Given the description of an element on the screen output the (x, y) to click on. 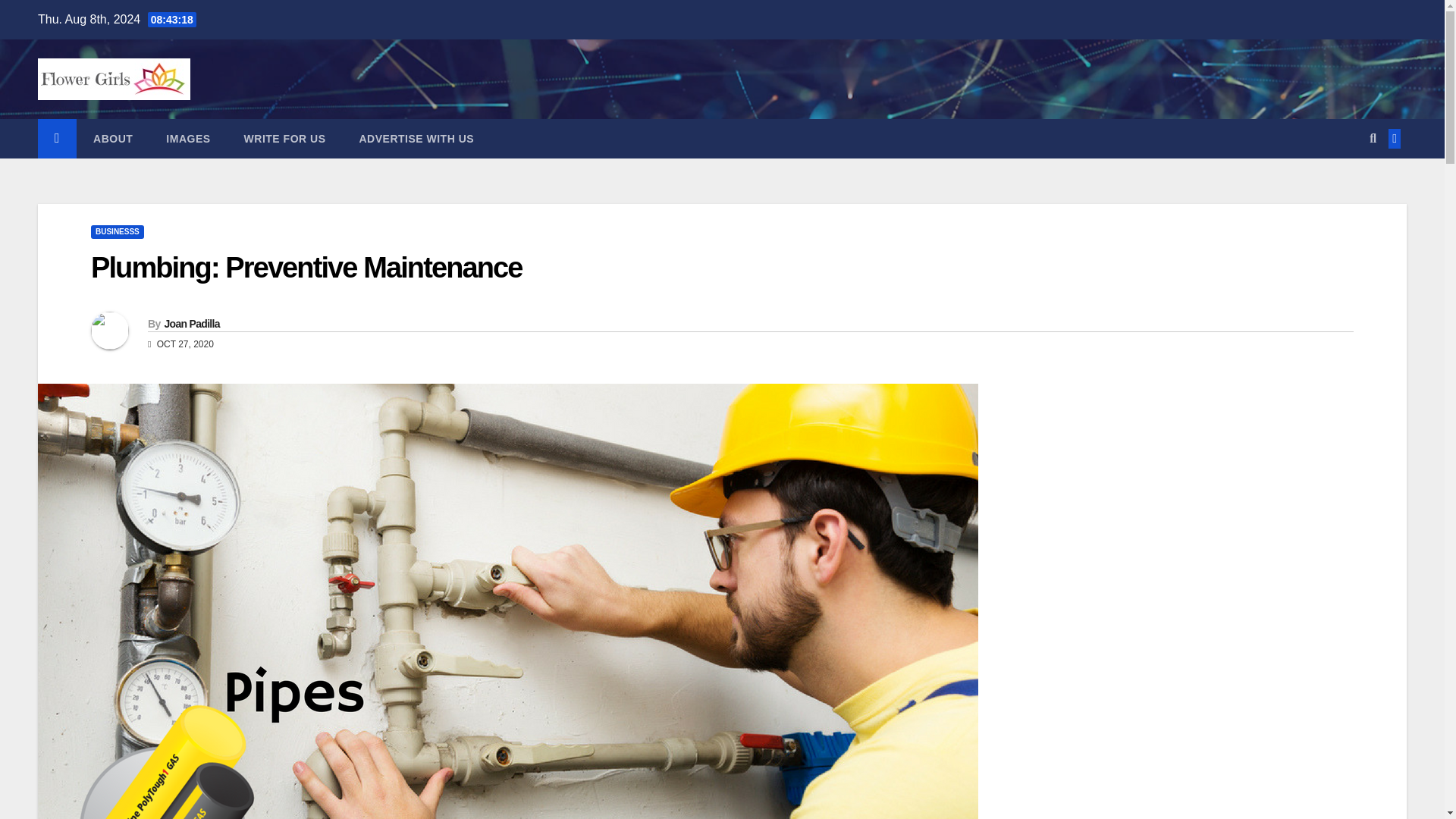
Plumbing: Preventive Maintenance (305, 267)
Permalink to: Plumbing: Preventive Maintenance (305, 267)
IMAGES (188, 138)
About (113, 138)
Write For Us (284, 138)
WRITE FOR US (284, 138)
ABOUT (113, 138)
Advertise with Us (416, 138)
Images (188, 138)
Joan Padilla (191, 323)
